Given the description of an element on the screen output the (x, y) to click on. 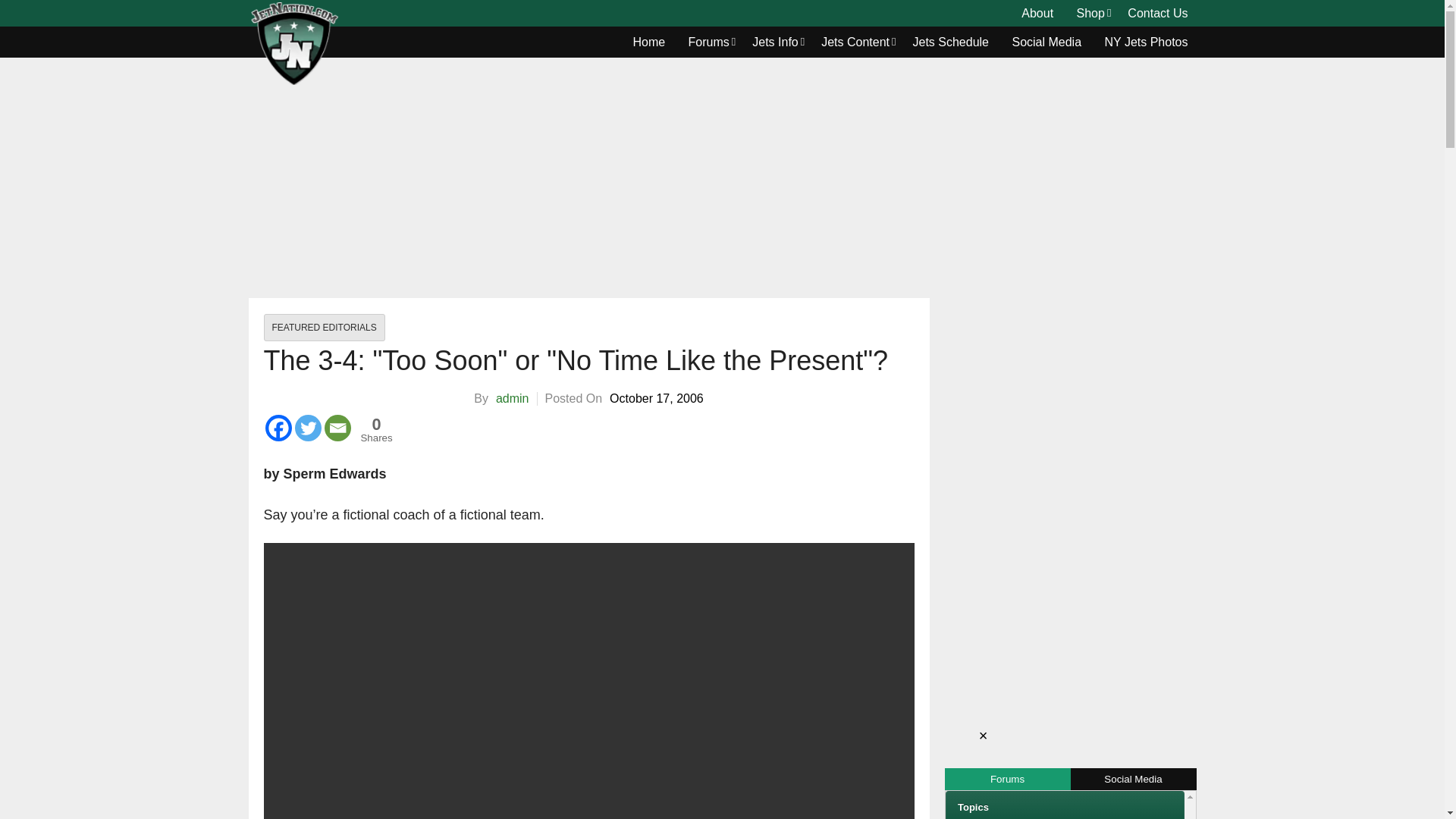
Home (649, 41)
NY Jets Photos (1146, 41)
About (1037, 13)
Forums (709, 41)
2006-10-17 (656, 398)
Jets Content (855, 41)
Jets Schedule (950, 41)
Email (337, 427)
Facebook (278, 427)
Social Media (1046, 41)
Jets Info (775, 41)
Shop (1090, 13)
Total Shares (377, 429)
FEATURED EDITORIALS (324, 327)
Twitter (307, 427)
